Given the description of an element on the screen output the (x, y) to click on. 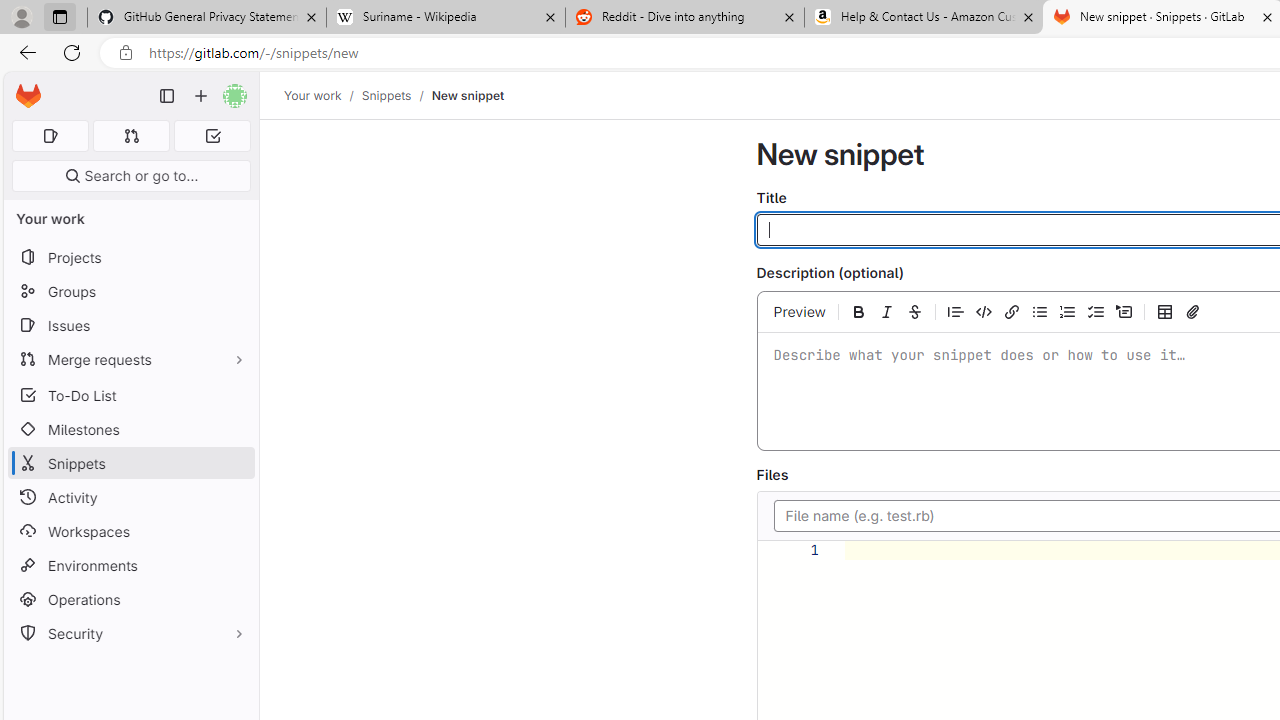
Create new... (201, 96)
Preview (799, 311)
To-Do list 0 (212, 136)
Add a collapsible section (1124, 311)
Snippets (386, 95)
Security (130, 633)
Add a bullet list (1039, 311)
Add a table (1165, 311)
Add strikethrough text (Ctrl+Shift+X) (914, 311)
Activity (130, 497)
Attach a file or image (1192, 311)
Primary navigation sidebar (167, 96)
